Given the description of an element on the screen output the (x, y) to click on. 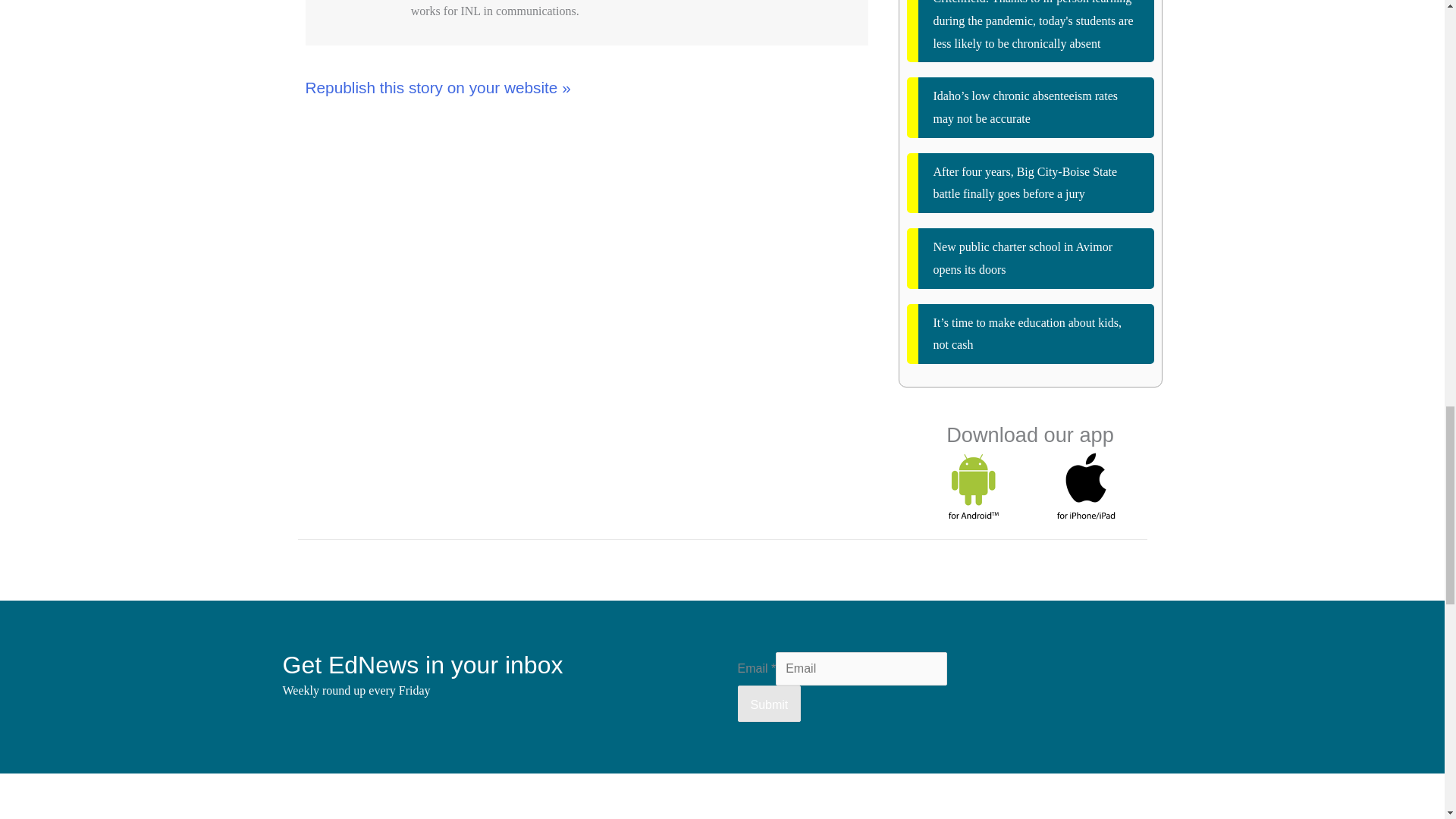
Submit (768, 703)
New public charter school in Avimor opens its doors (1030, 258)
